Given the description of an element on the screen output the (x, y) to click on. 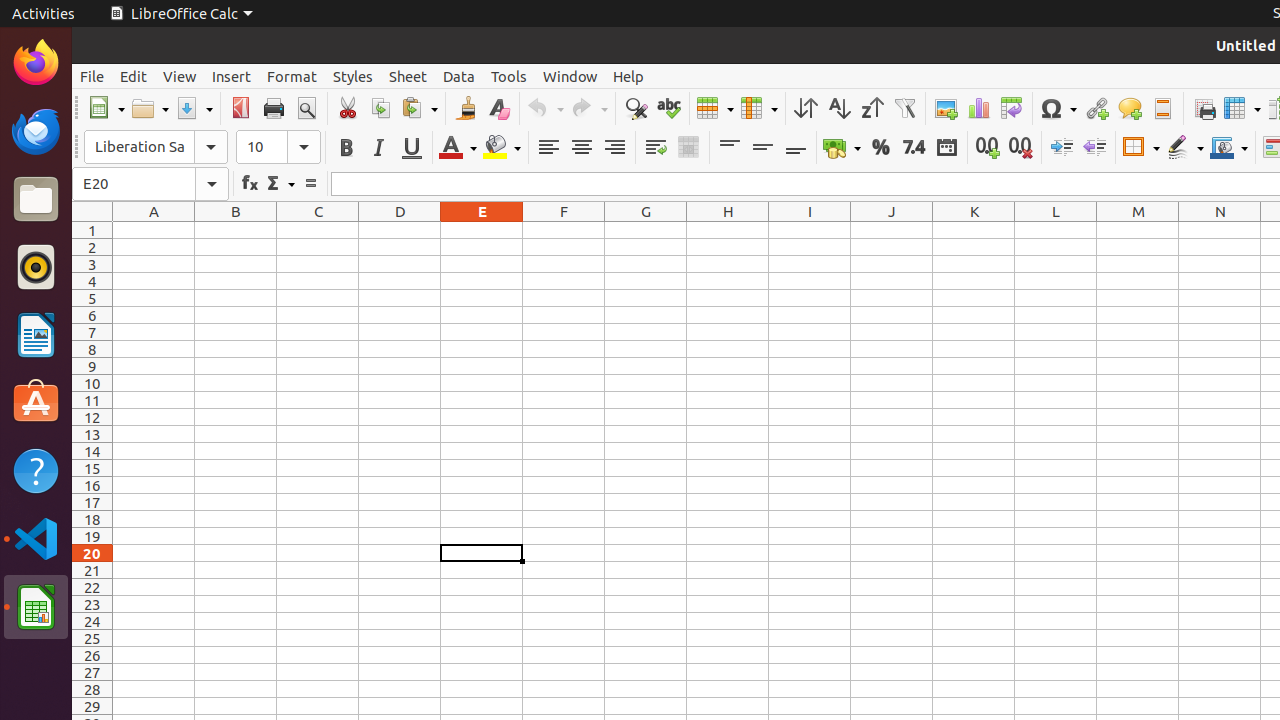
Visual Studio Code Element type: push-button (36, 538)
Copy Element type: push-button (380, 108)
Percent Element type: push-button (880, 147)
Font Name Element type: combo-box (156, 147)
LibreOffice Calc Element type: push-button (36, 607)
